Given the description of an element on the screen output the (x, y) to click on. 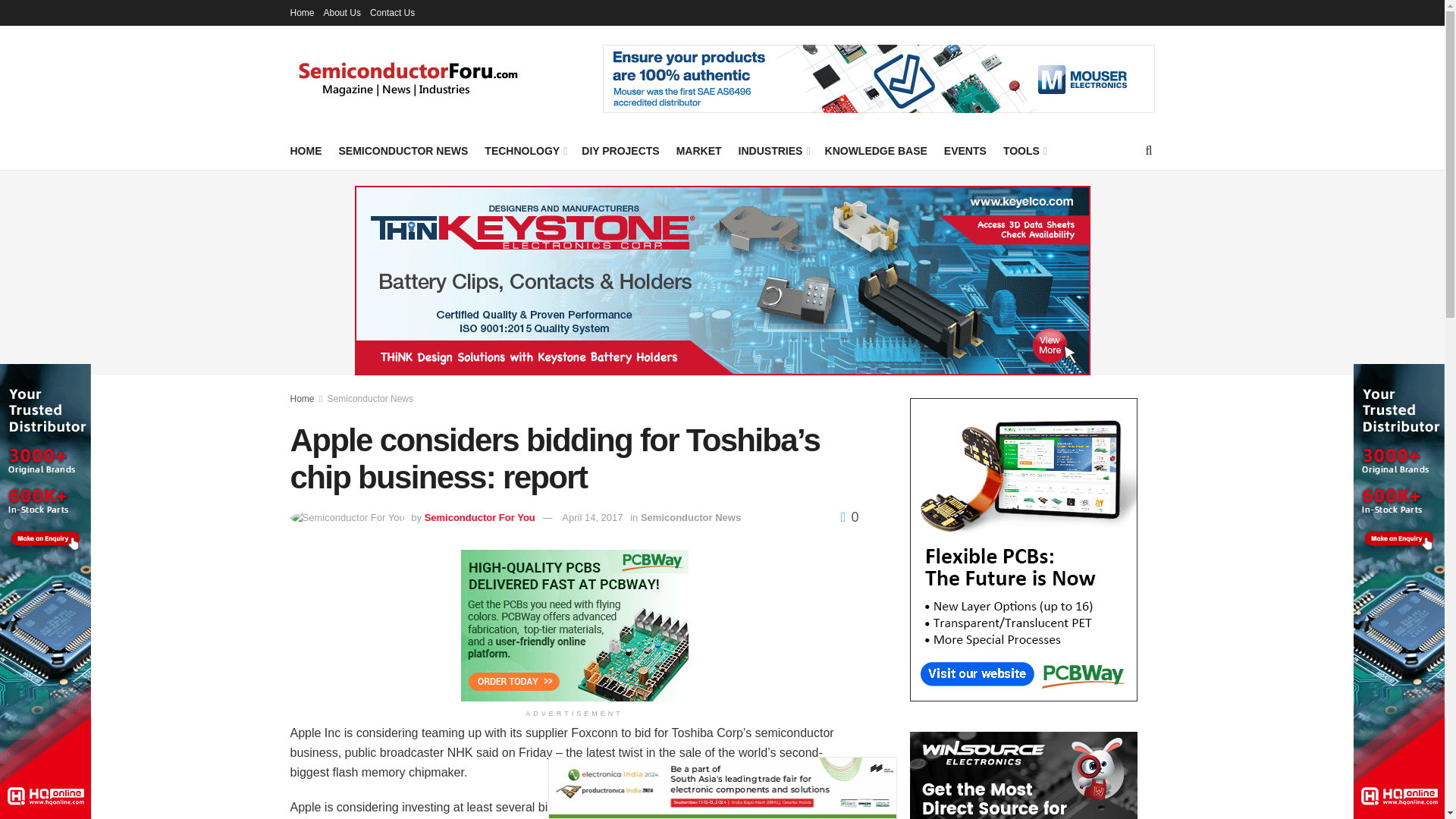
About Us (342, 12)
MARKET (699, 150)
KNOWLEDGE BASE (876, 150)
INDUSTRIES (773, 150)
Contact Us (391, 12)
DIY PROJECTS (619, 150)
TOOLS (1024, 150)
EVENTS (965, 150)
TECHNOLOGY (524, 150)
HOME (305, 150)
